Given the description of an element on the screen output the (x, y) to click on. 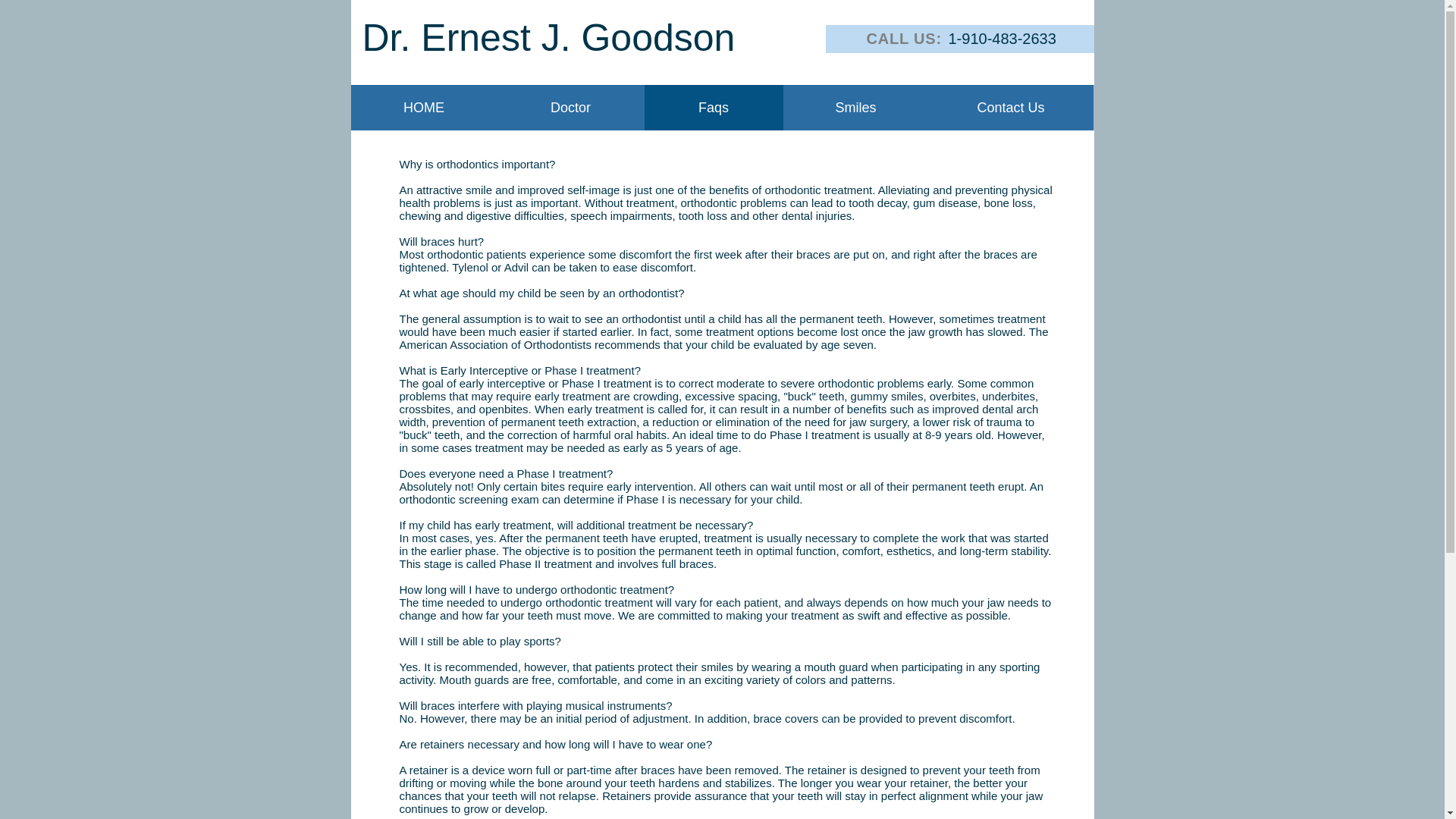
HOME (423, 107)
Faqs (714, 107)
Smiles (855, 107)
Doctor (571, 107)
Contact Us (1010, 107)
